Given the description of an element on the screen output the (x, y) to click on. 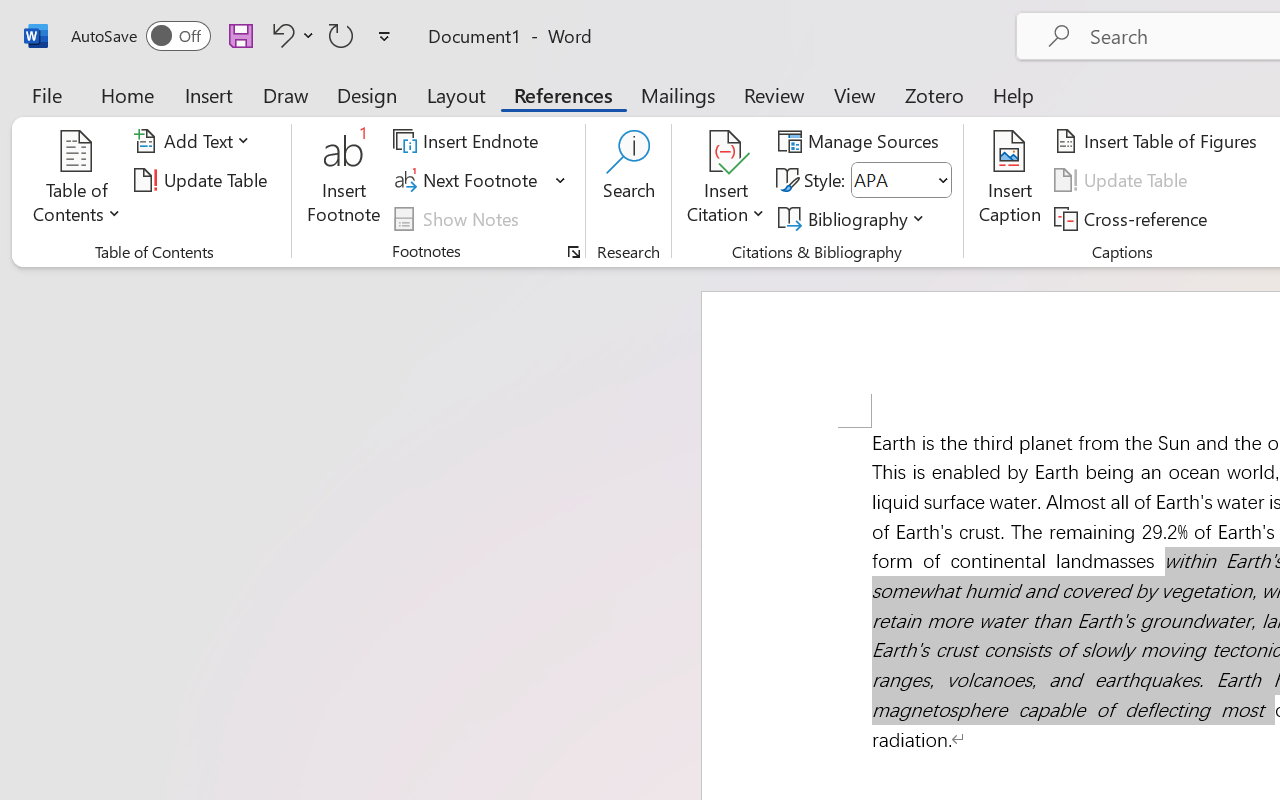
Help (1013, 94)
Repeat Doc Close (341, 35)
Insert Caption... (1009, 180)
Add Text (195, 141)
Cross-reference... (1133, 218)
Update Table (1124, 179)
Show Notes (459, 218)
Footnote and Endnote Dialog... (573, 252)
Undo Italic (290, 35)
